Given the description of an element on the screen output the (x, y) to click on. 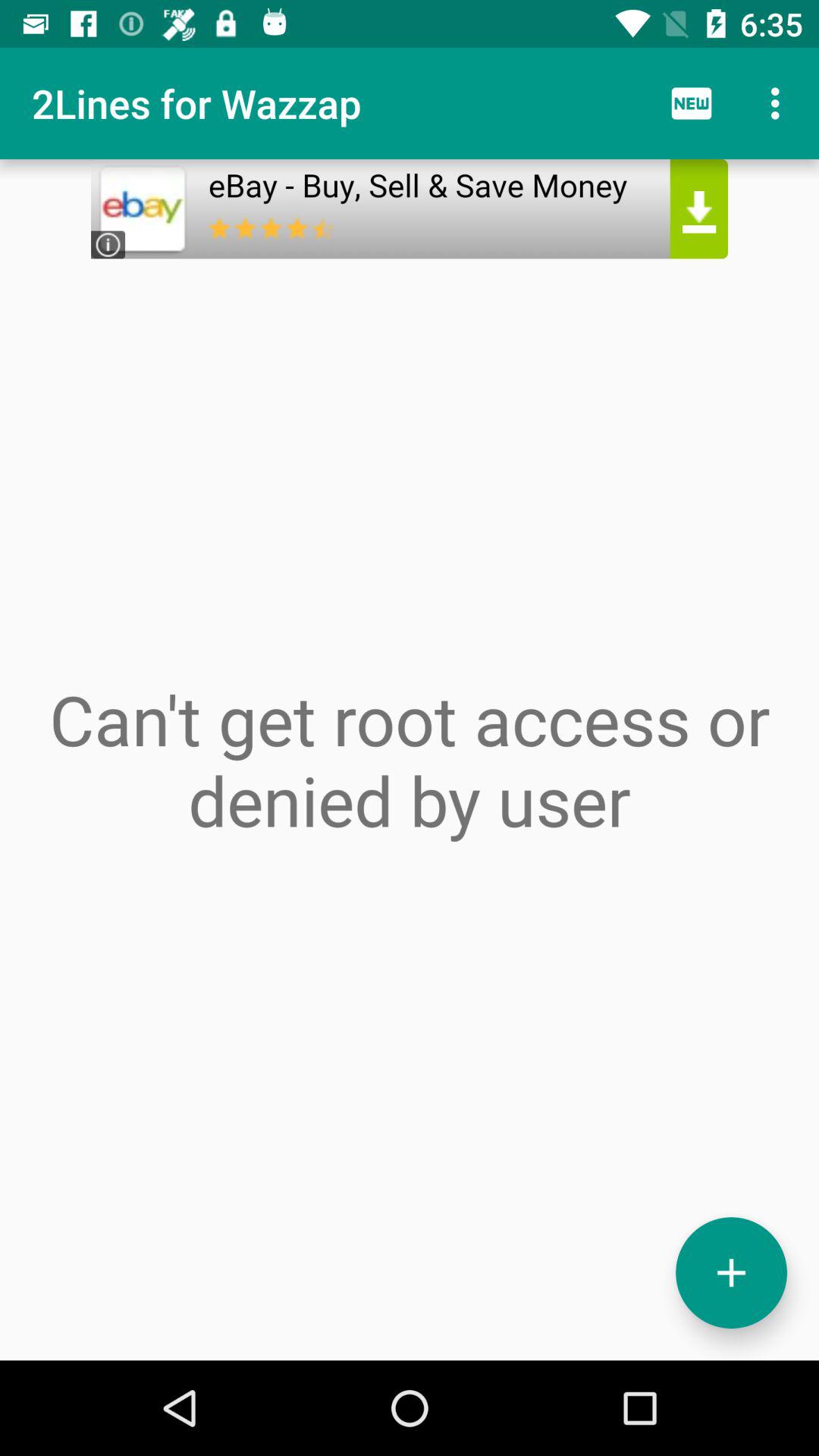
press icon below the can t get icon (731, 1272)
